Given the description of an element on the screen output the (x, y) to click on. 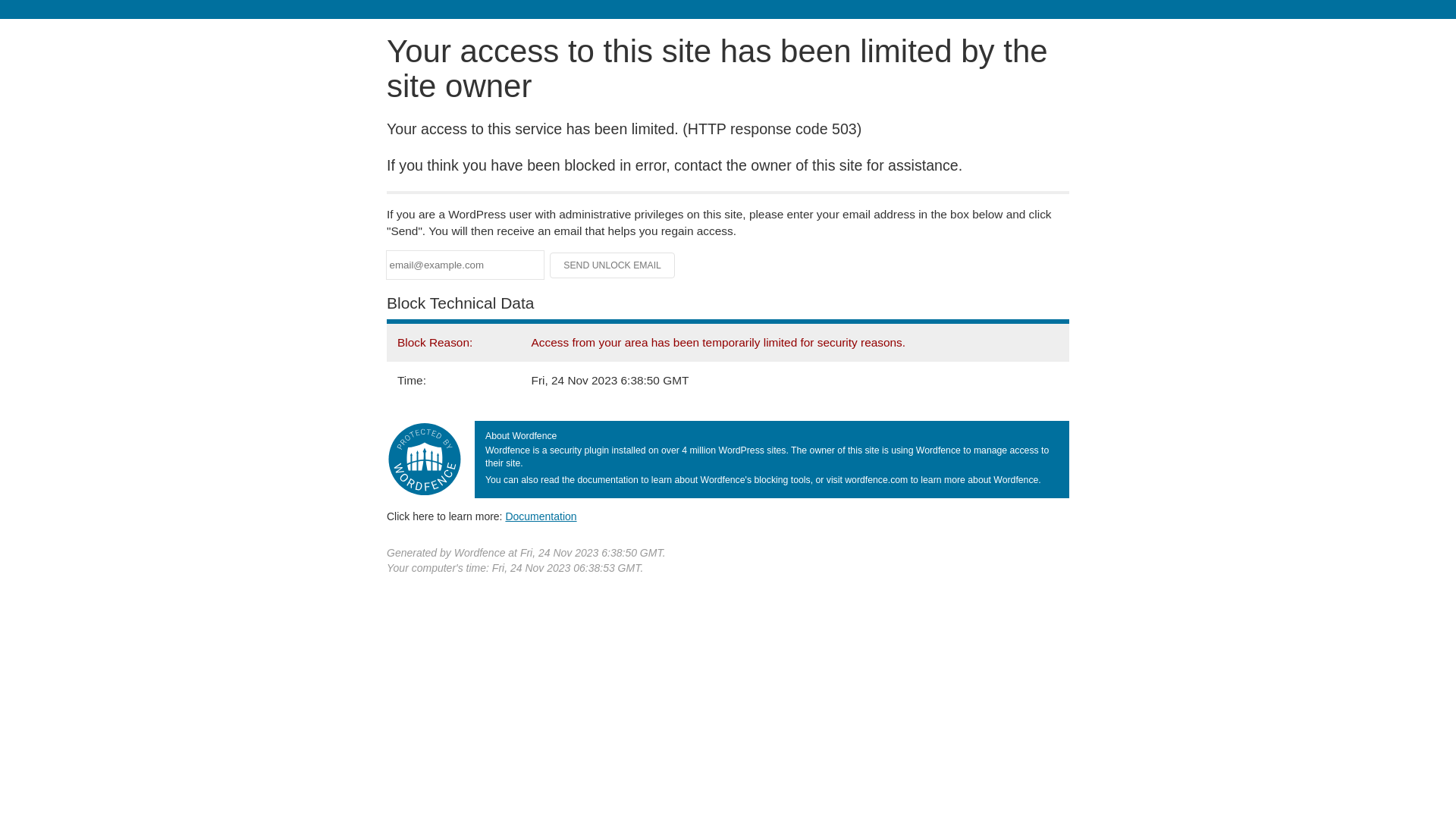
Send Unlock Email Element type: text (612, 265)
Documentation Element type: text (540, 516)
